Given the description of an element on the screen output the (x, y) to click on. 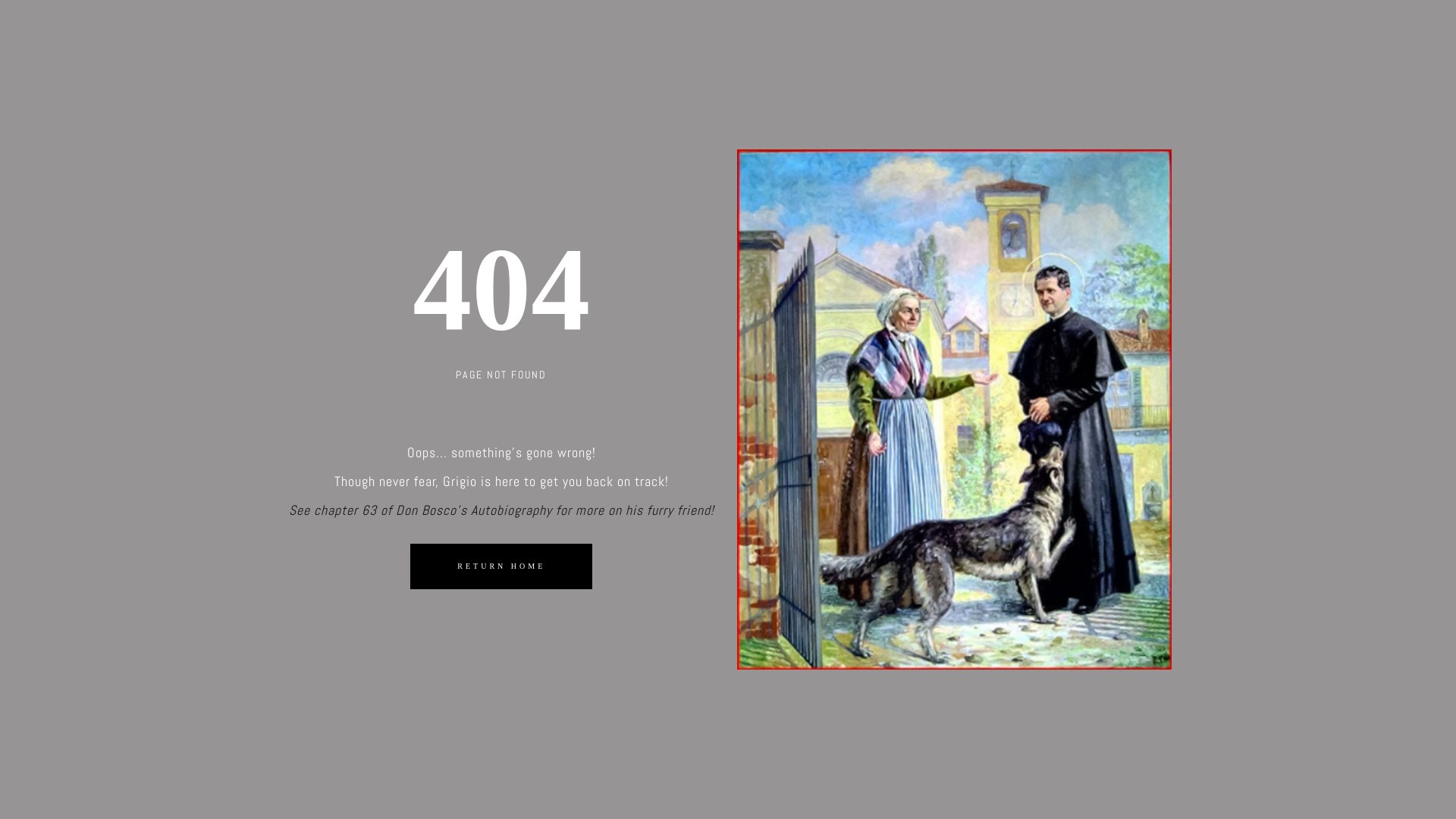
RETURN HOME Element type: text (501, 565)
